Given the description of an element on the screen output the (x, y) to click on. 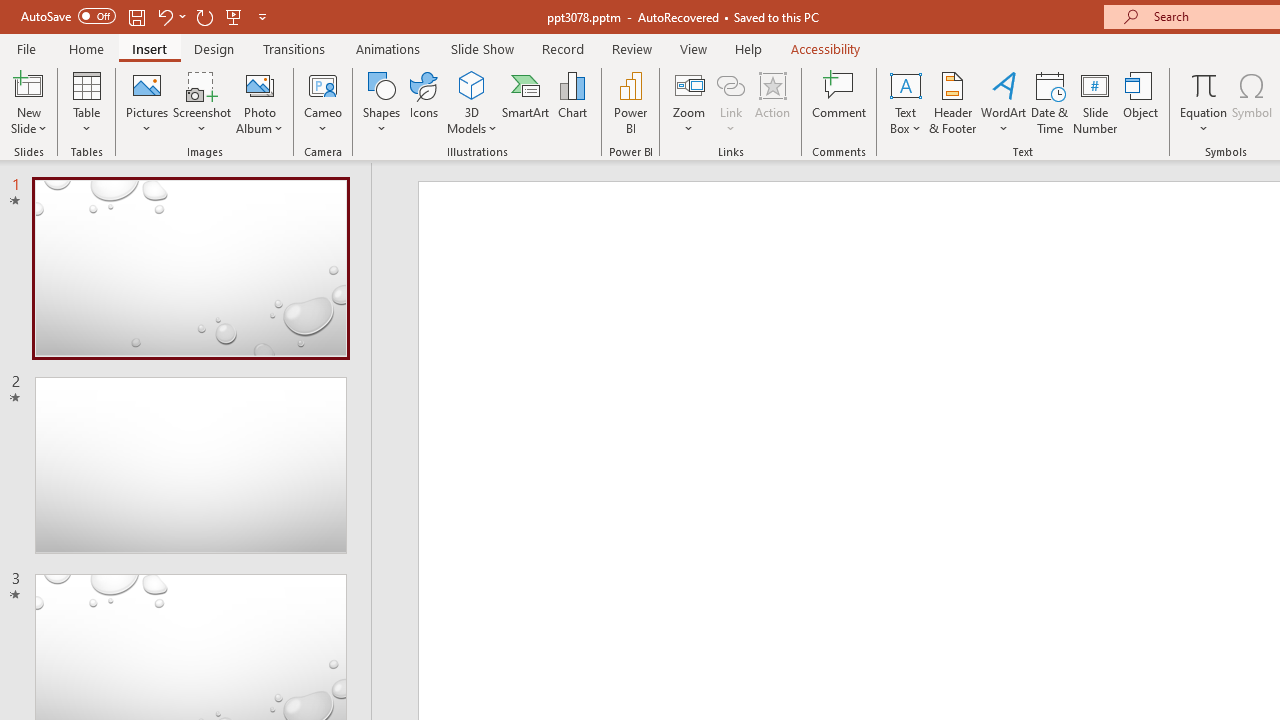
Photo Album... (259, 102)
Date & Time... (1050, 102)
Link (731, 84)
Table (86, 102)
Draw Horizontal Text Box (905, 84)
WordArt (1004, 102)
